Given the description of an element on the screen output the (x, y) to click on. 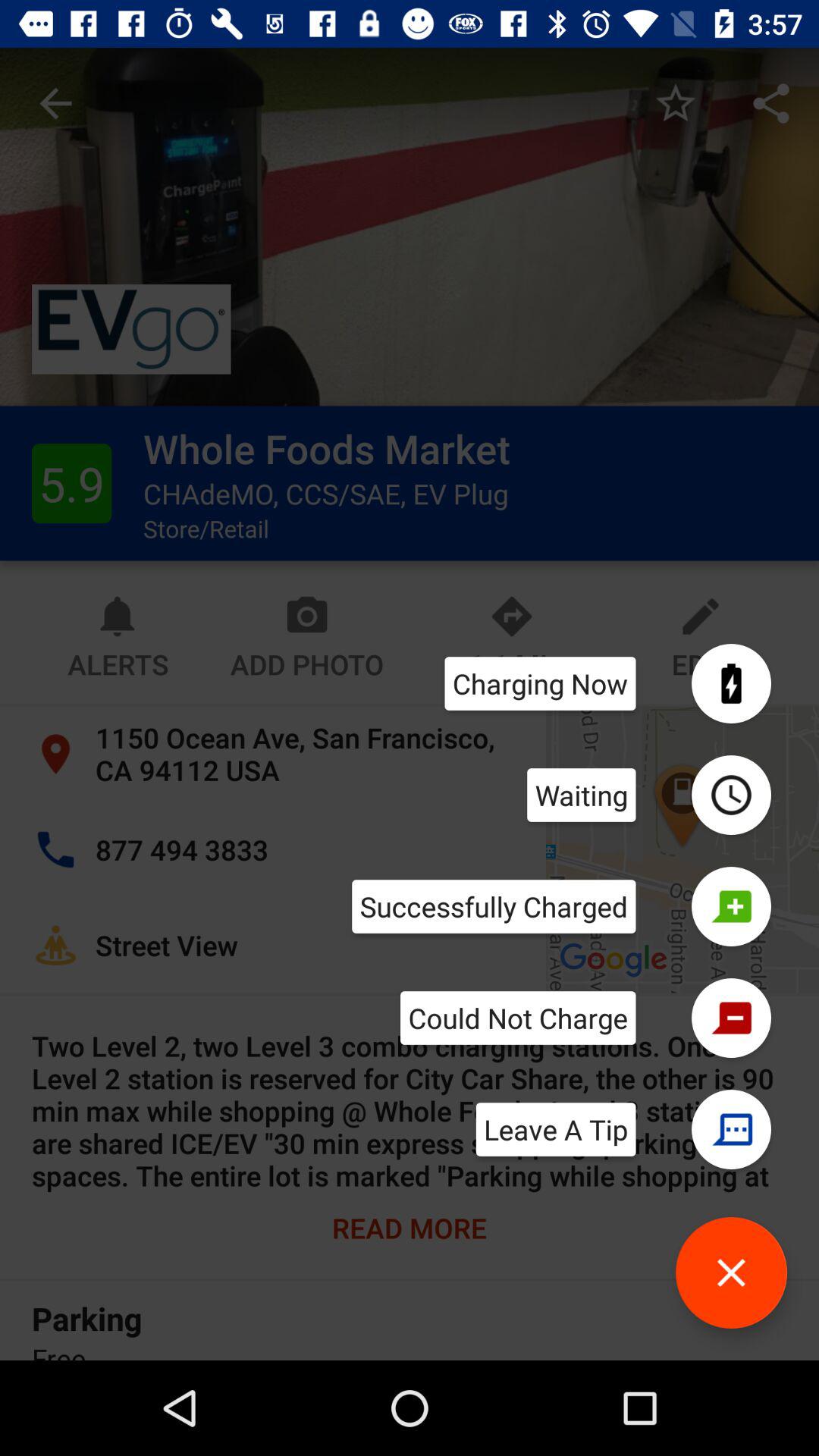
choose the icon below waiting (493, 906)
